Given the description of an element on the screen output the (x, y) to click on. 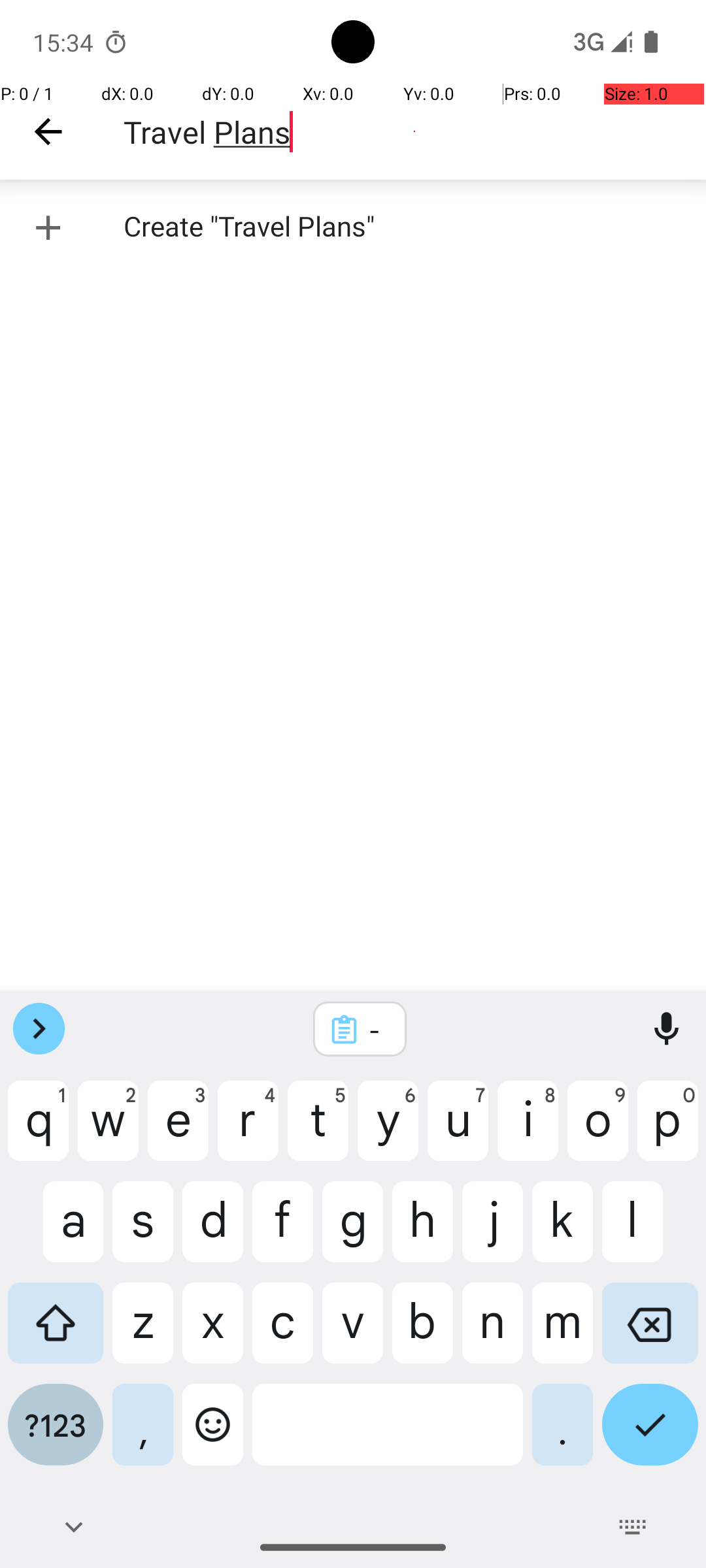
Travel Plans Element type: android.widget.EditText (414, 131)
Create "Travel Plans" Element type: android.widget.TextView (353, 227)
